Given the description of an element on the screen output the (x, y) to click on. 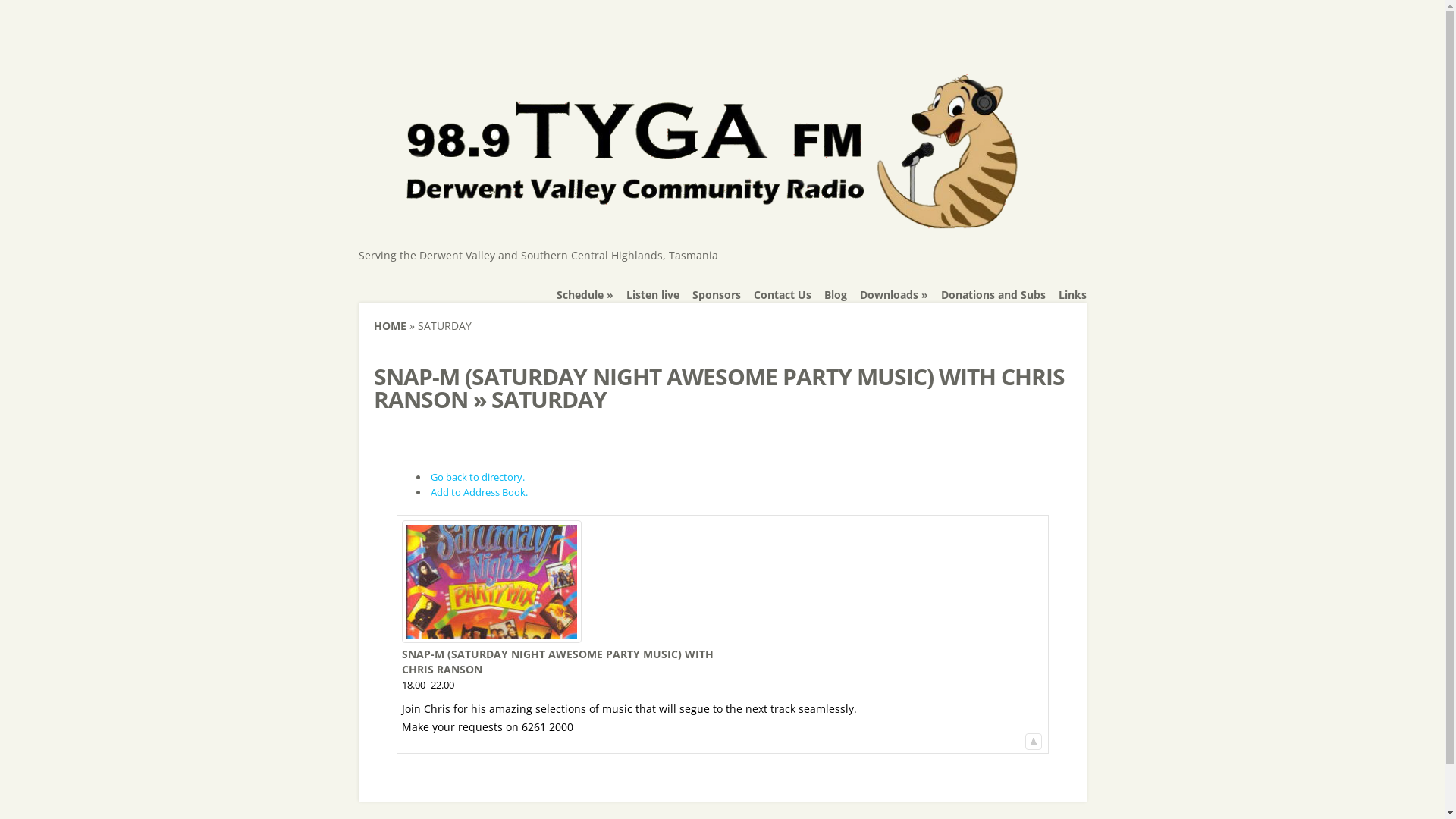
HOME Element type: text (389, 325)
Add to Address Book. Element type: text (478, 491)
Downloads Element type: text (893, 294)
Links Element type: text (1072, 294)
Blog Element type: text (834, 294)
Return to top. Element type: hover (1033, 741)
98.9 TYGA-FM Element type: hover (715, 220)
Listen live Element type: text (652, 294)
Contact Us Element type: text (782, 294)
Go back to directory. Element type: text (477, 476)
Sponsors Element type: text (715, 294)
Donations and Subs Element type: text (992, 294)
Schedule Element type: text (584, 294)
